Given the description of an element on the screen output the (x, y) to click on. 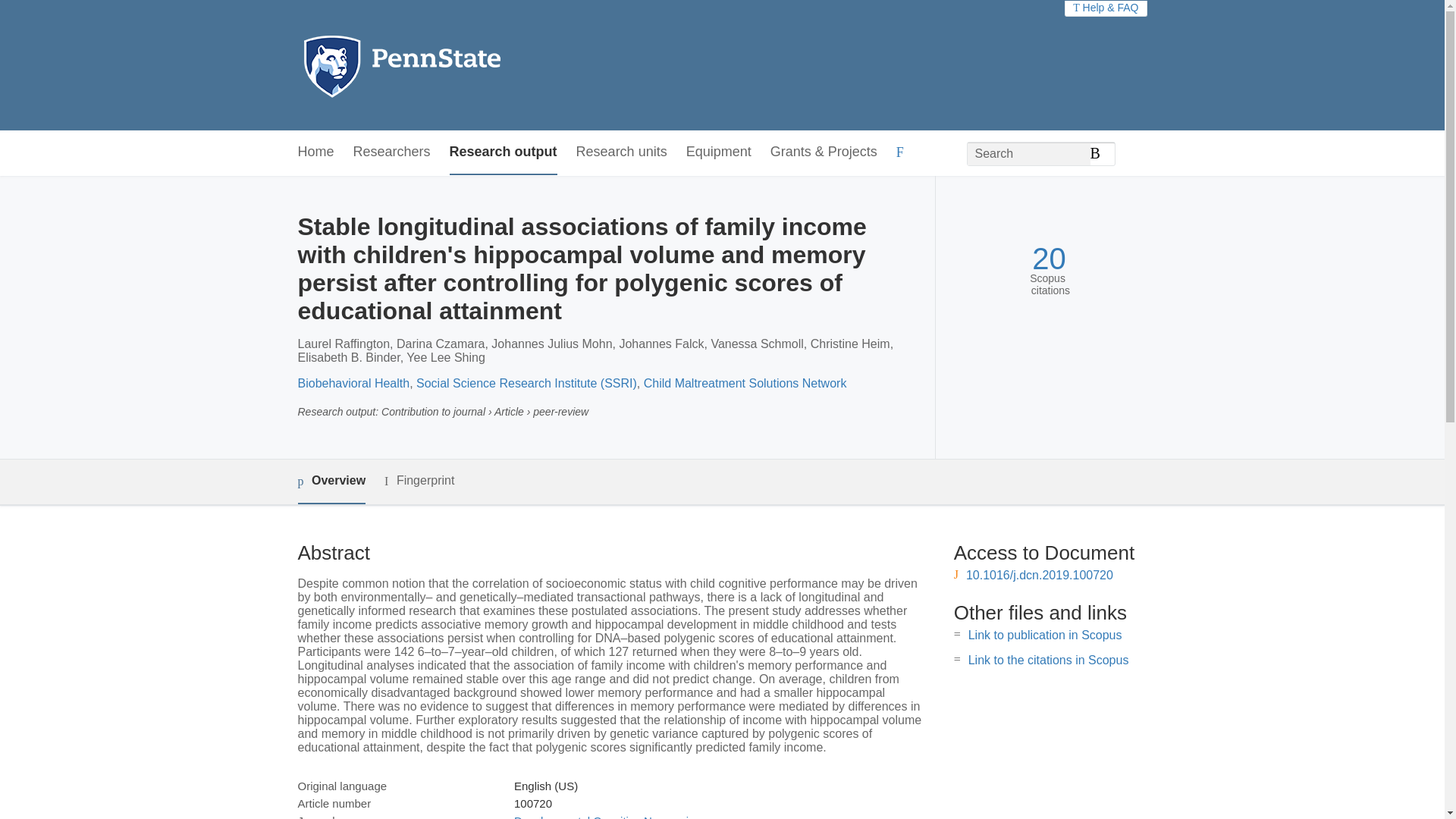
Researchers (391, 152)
Research units (621, 152)
Link to publication in Scopus (1045, 634)
20 (1048, 258)
Overview (331, 481)
Link to the citations in Scopus (1048, 659)
Child Maltreatment Solutions Network (745, 382)
Penn State Home (467, 65)
Biobehavioral Health (353, 382)
